Given the description of an element on the screen output the (x, y) to click on. 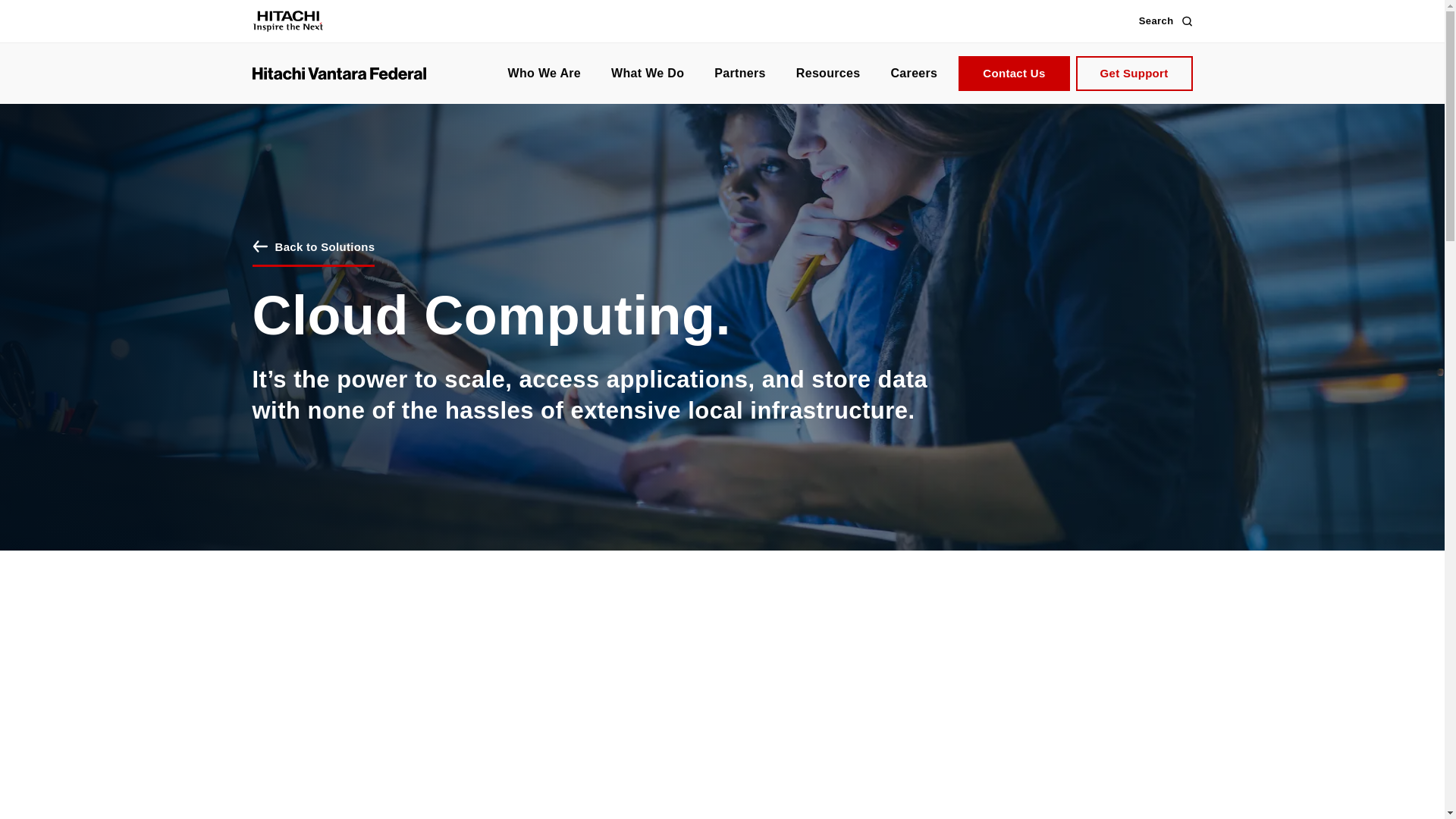
Partners (739, 73)
What We Do (646, 61)
Who We Are (544, 55)
Search (1165, 2)
Resources (828, 73)
Contact Us (1013, 73)
Careers (913, 73)
Get Support (1133, 73)
